Given the description of an element on the screen output the (x, y) to click on. 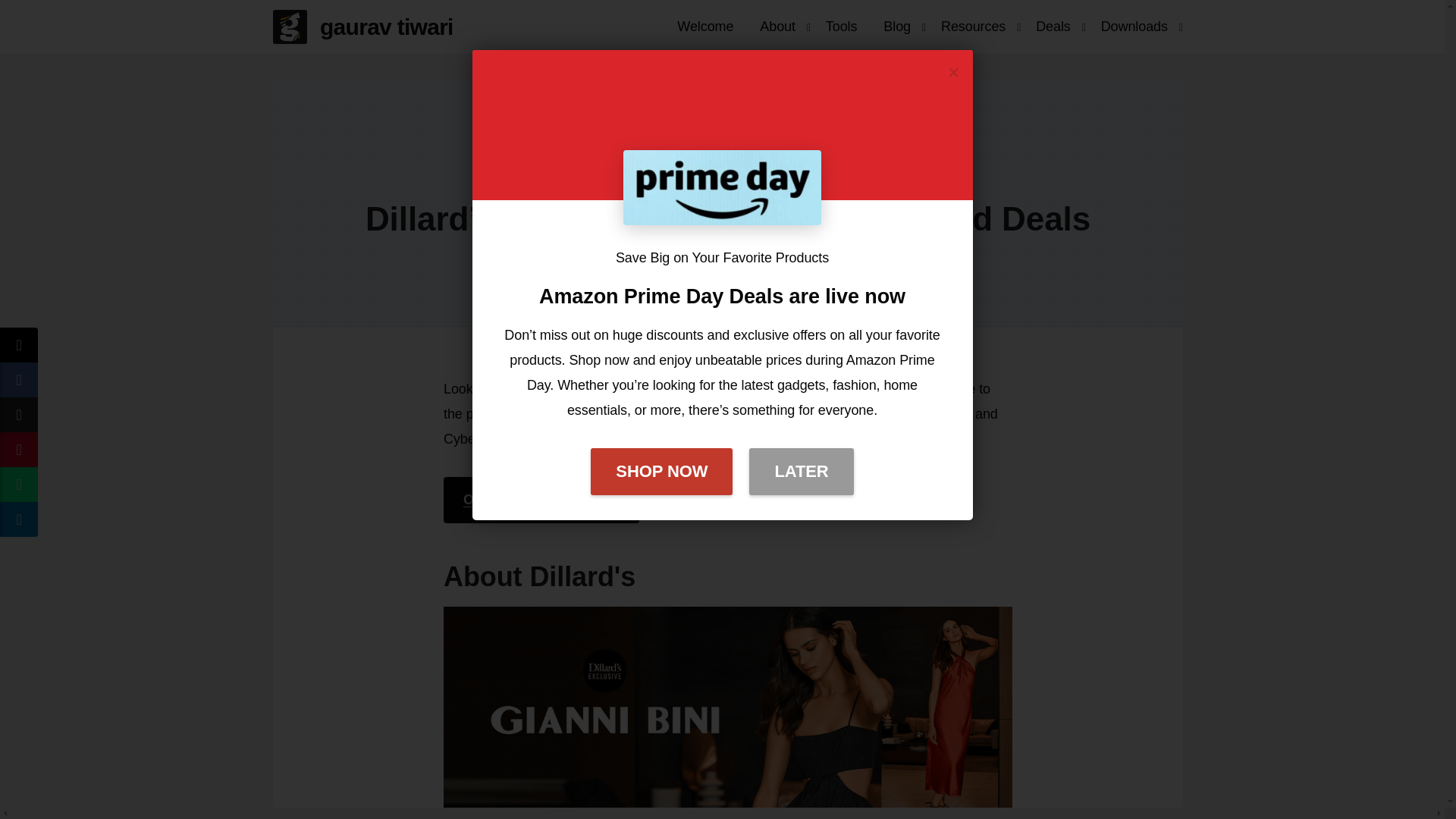
Blog (896, 26)
Tools (841, 26)
Welcome (704, 26)
About (777, 26)
gaurav tiwari (369, 26)
